Given the description of an element on the screen output the (x, y) to click on. 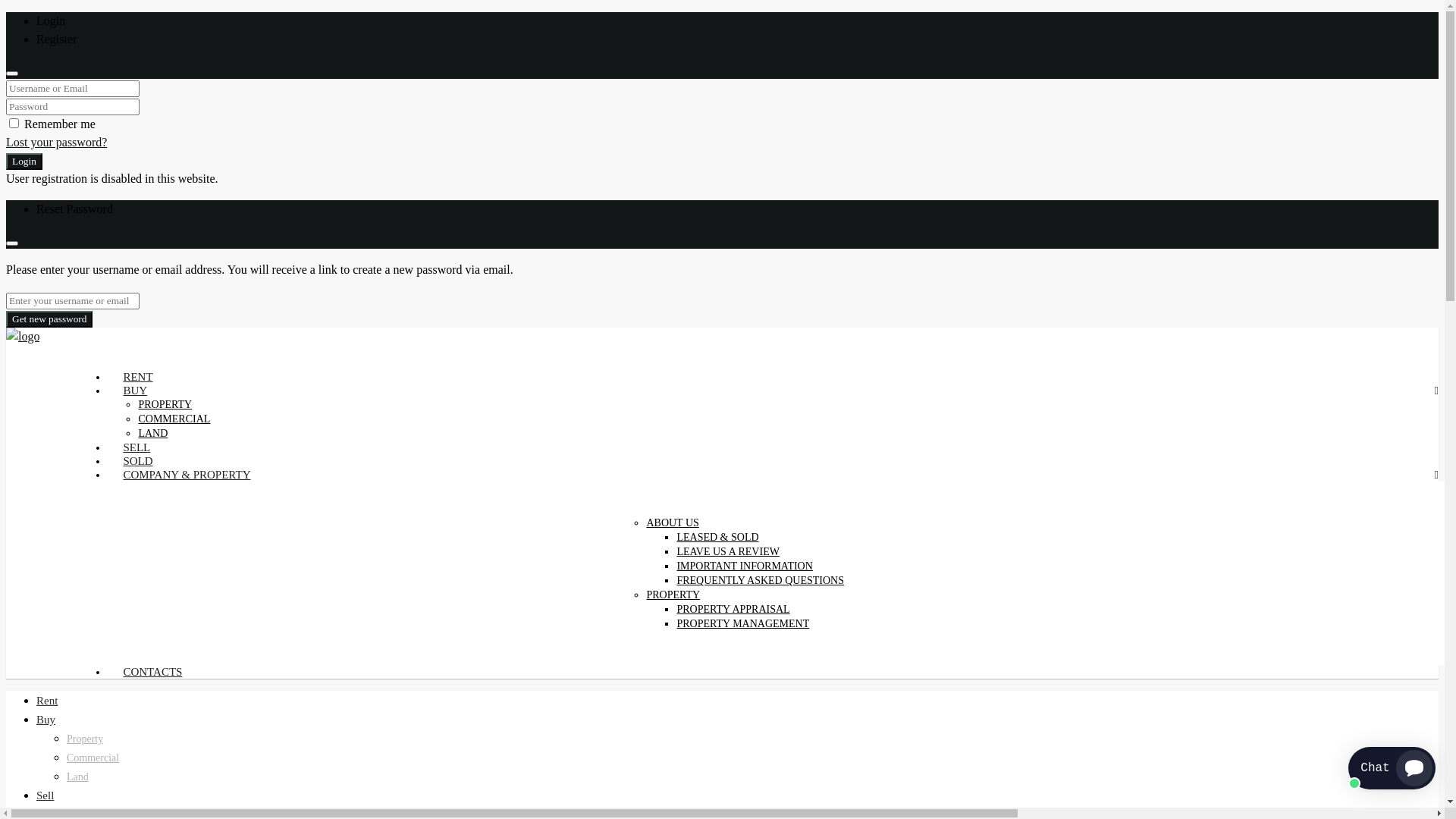
LEAVE US A REVIEW Element type: text (727, 551)
Get new password Element type: text (49, 318)
SOLD Element type: text (137, 453)
Sell Element type: text (44, 795)
SELL Element type: text (136, 439)
COMMERCIAL Element type: text (174, 418)
Commercial Element type: text (92, 757)
CONTACTS Element type: text (152, 663)
Lost your password? Element type: text (56, 141)
COMPANY & PROPERTY Element type: text (186, 466)
Buy Element type: text (45, 719)
PROPERTY Element type: text (672, 594)
ABOUT US Element type: text (672, 522)
RENT Element type: text (137, 368)
PROPERTY MANAGEMENT Element type: text (742, 623)
Smartsupp widget button Element type: hover (1391, 767)
PROPERTY Element type: text (164, 404)
BUY Element type: text (134, 382)
PROPERTY APPRAISAL Element type: text (732, 609)
Land Element type: text (77, 776)
FREQUENTLY ASKED QUESTIONS Element type: text (760, 580)
IMPORTANT INFORMATION Element type: text (744, 565)
LEASED & SOLD Element type: text (717, 536)
LAND Element type: text (152, 433)
Login Element type: text (24, 161)
Rent Element type: text (46, 700)
Property Element type: text (84, 738)
